Given the description of an element on the screen output the (x, y) to click on. 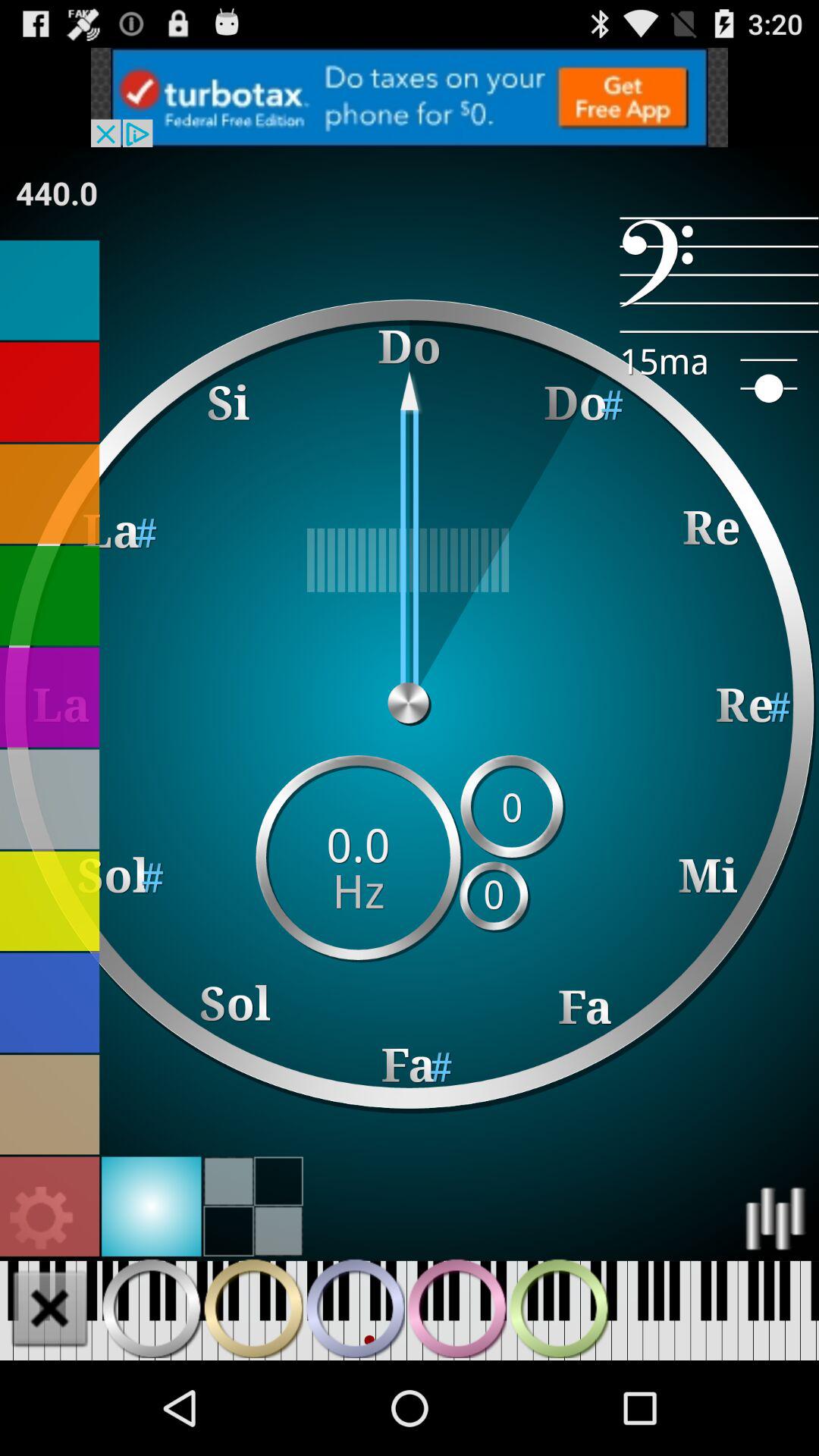
select the app below c a r (56, 192)
